Given the description of an element on the screen output the (x, y) to click on. 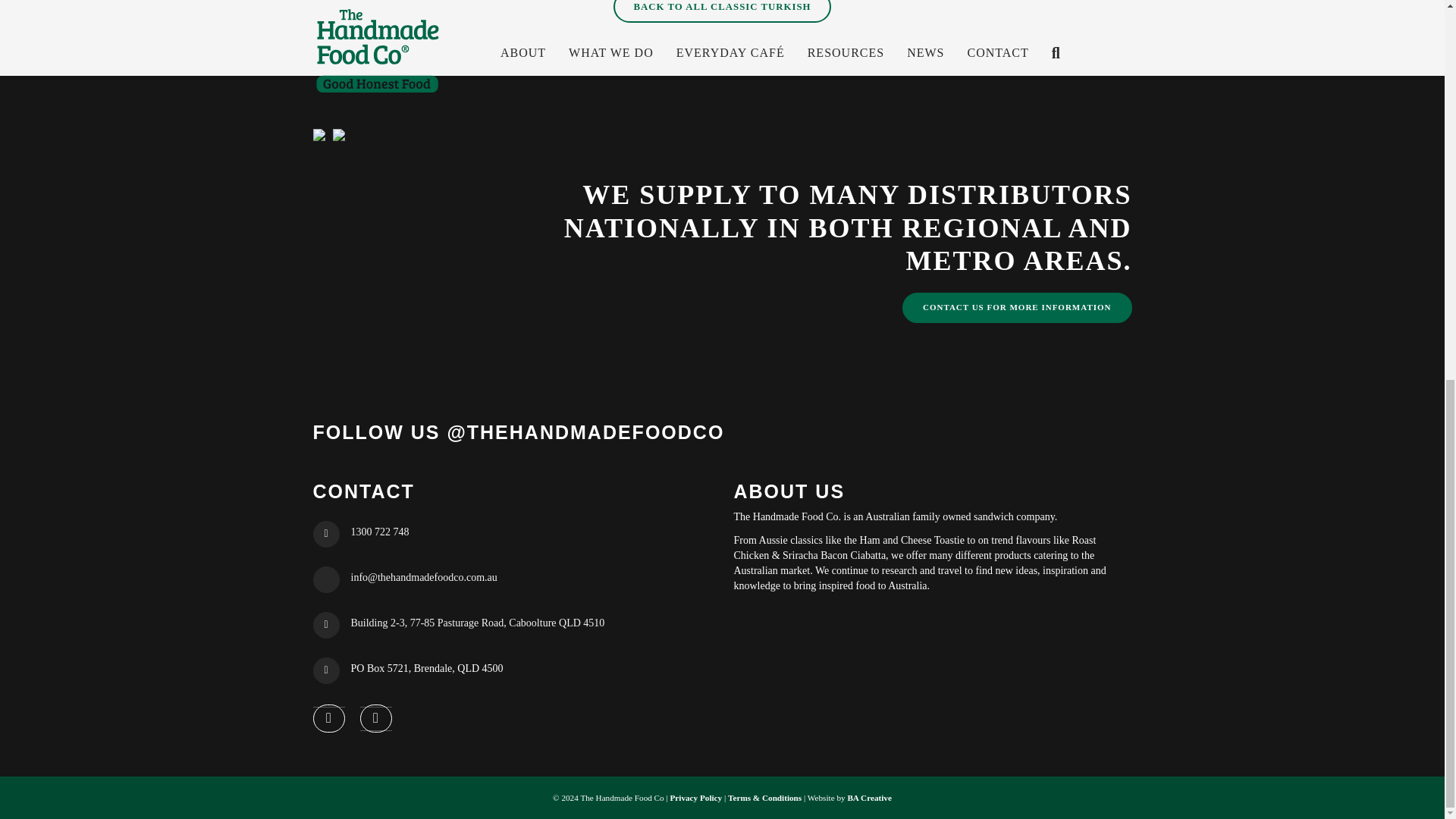
1300 722 748 (379, 531)
Building 2-3, 77-85 Pasturage Road, Caboolture QLD 4510 (477, 622)
Privacy Policy (695, 797)
CONTACT US FOR MORE INFORMATION (1017, 307)
BACK TO ALL CLASSIC TURKISH (721, 11)
BA Creative (869, 797)
